Given the description of an element on the screen output the (x, y) to click on. 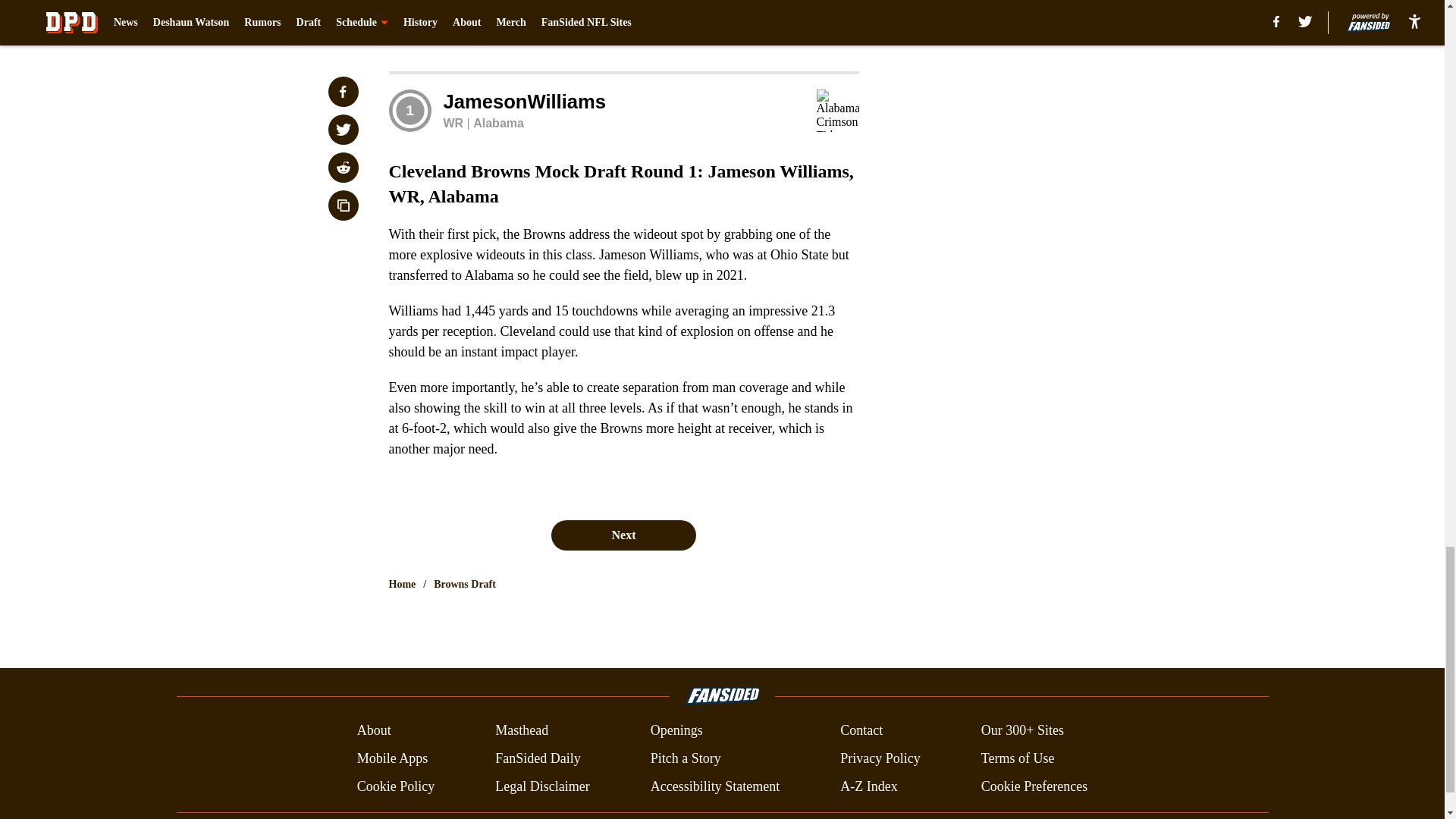
Contact (861, 730)
Privacy Policy (880, 758)
Next (622, 535)
Home (401, 584)
FanSided Daily (537, 758)
Pitch a Story (685, 758)
Mobile Apps (392, 758)
About (373, 730)
Masthead (521, 730)
Openings (676, 730)
Browns Draft (464, 584)
